Given the description of an element on the screen output the (x, y) to click on. 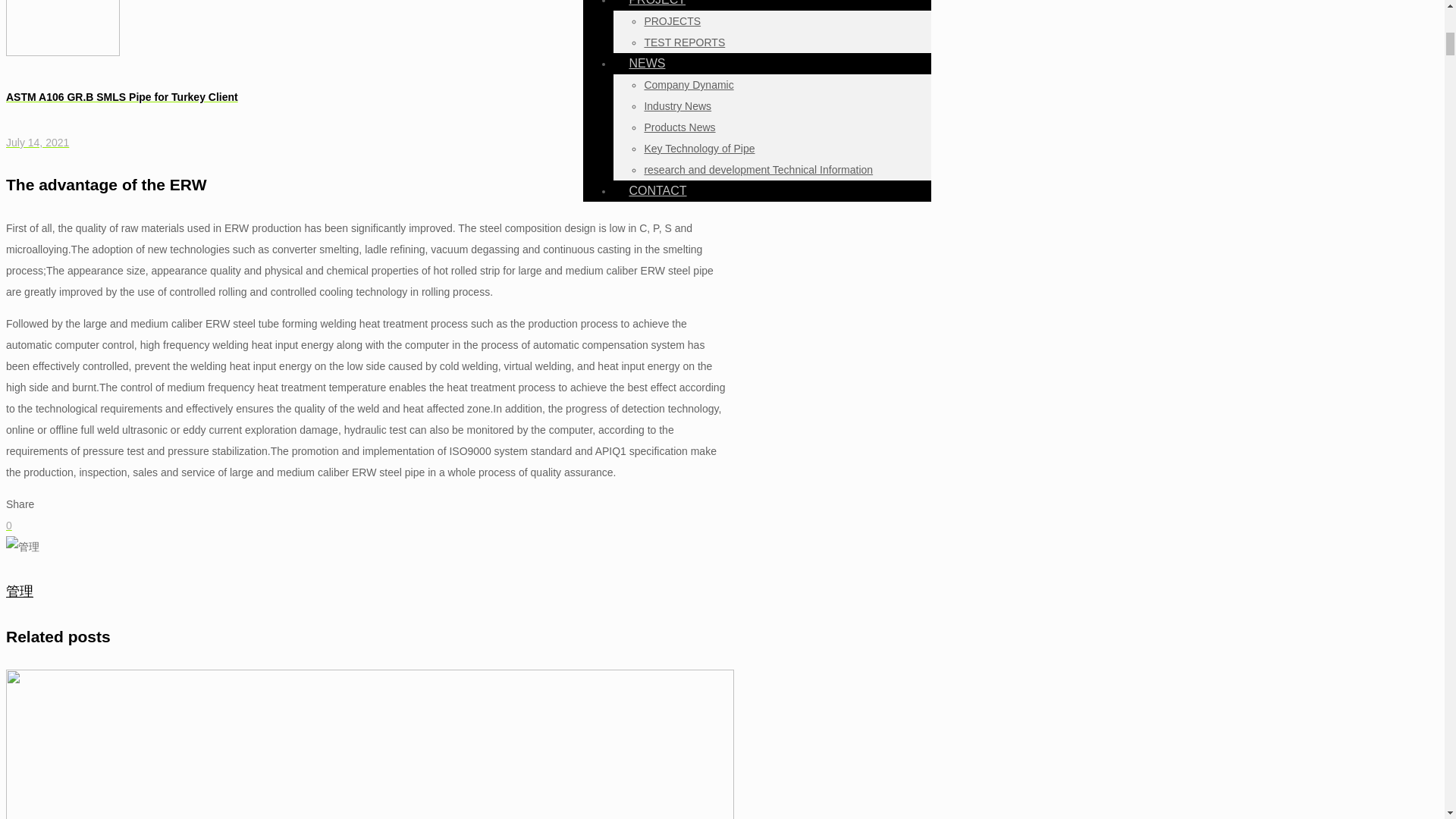
NEWS (653, 63)
TEST REPORTS (684, 42)
PROJECT (664, 8)
PROJECTS (671, 21)
